Given the description of an element on the screen output the (x, y) to click on. 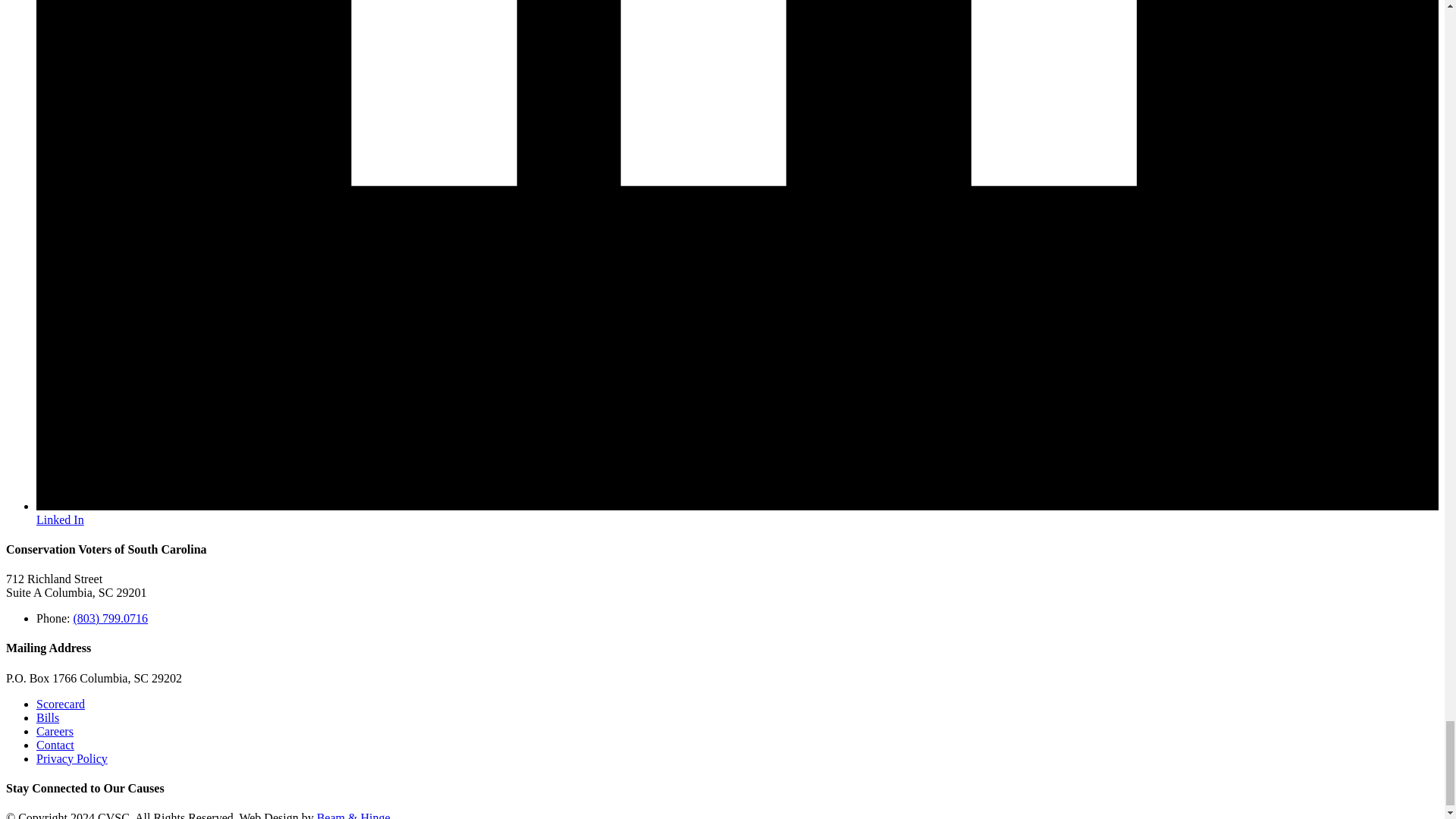
Privacy Policy (71, 758)
Scorecard (60, 703)
Contact (55, 744)
Bills (47, 717)
Careers (55, 730)
